Given the description of an element on the screen output the (x, y) to click on. 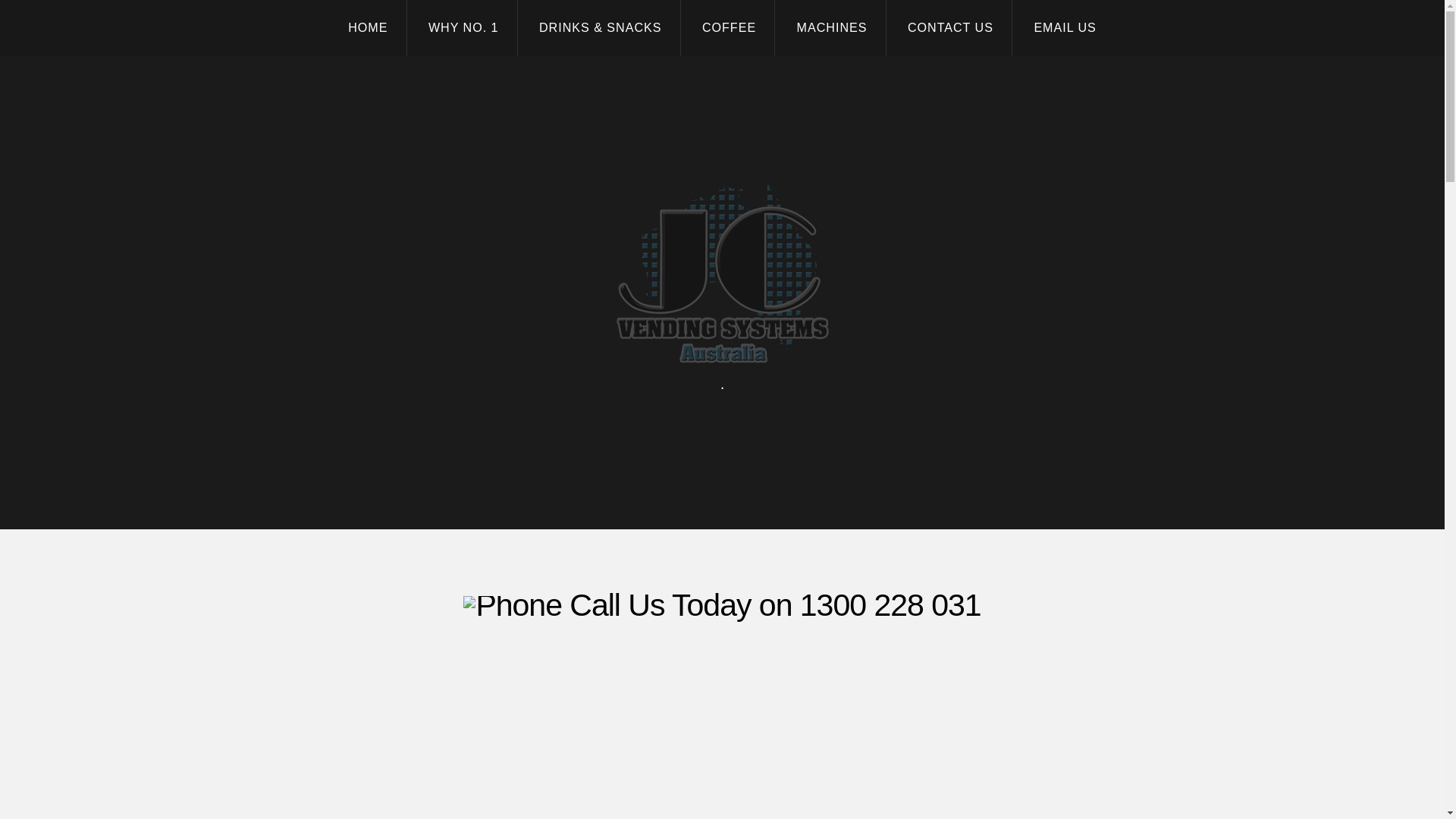
WHY NO. 1 (463, 28)
MACHINES (831, 28)
CONTACT US (950, 28)
EMAIL US (1064, 28)
HOME (368, 28)
COFFEE (729, 28)
